Given the description of an element on the screen output the (x, y) to click on. 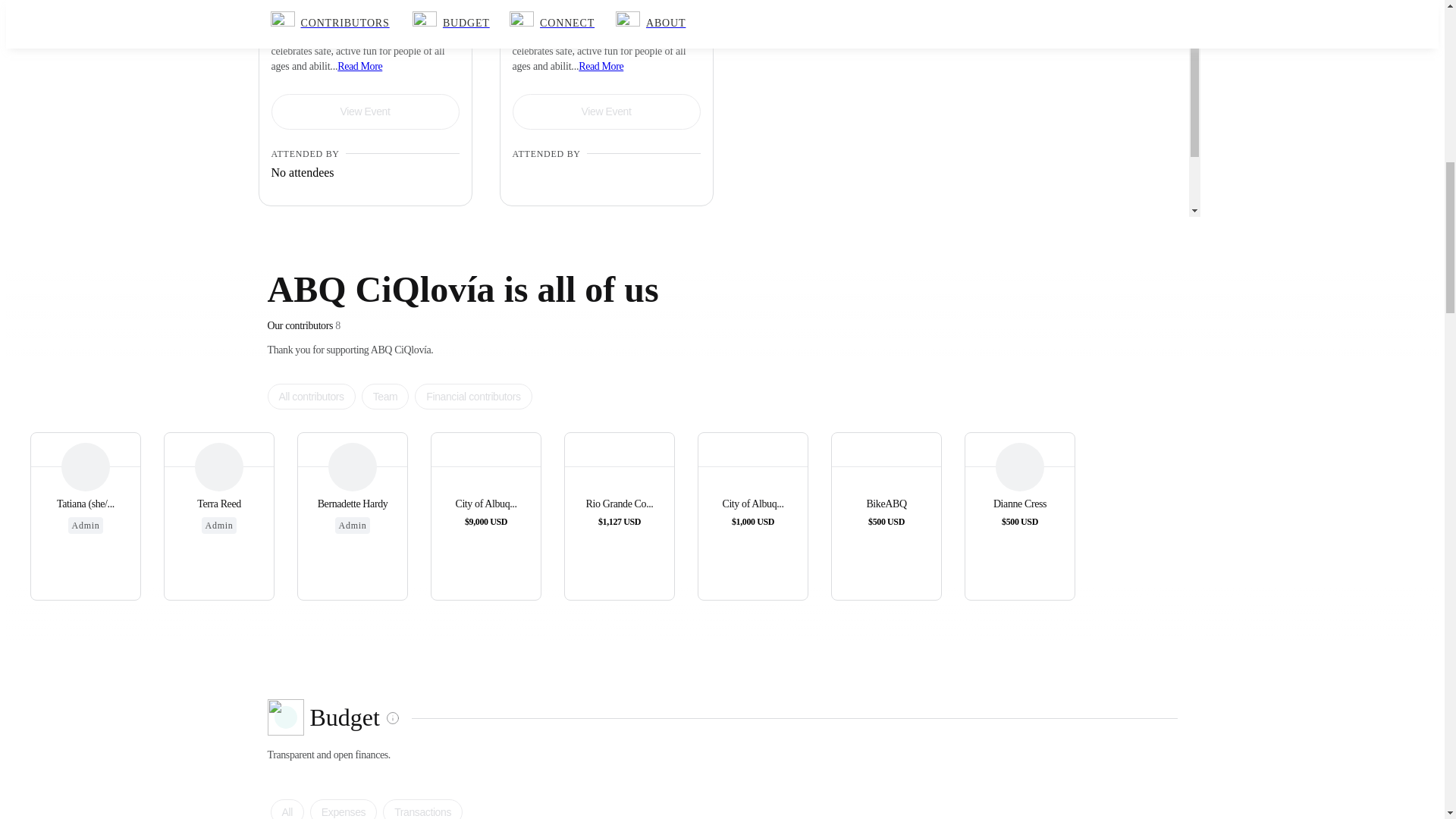
Blue Cross and Blue Shield of New Mexico (606, 226)
Blue Cross and Blue Shield of New Mexico (524, 226)
Bernadette Hardy (352, 504)
City of Albuquerque (606, 178)
Bernadette Hardy (353, 467)
Terra Reed (219, 467)
Presbyterian Community Health (606, 250)
PNM Resources (606, 202)
Presbyterian Community Health (524, 250)
City of Albuquerque (486, 467)
